Given the description of an element on the screen output the (x, y) to click on. 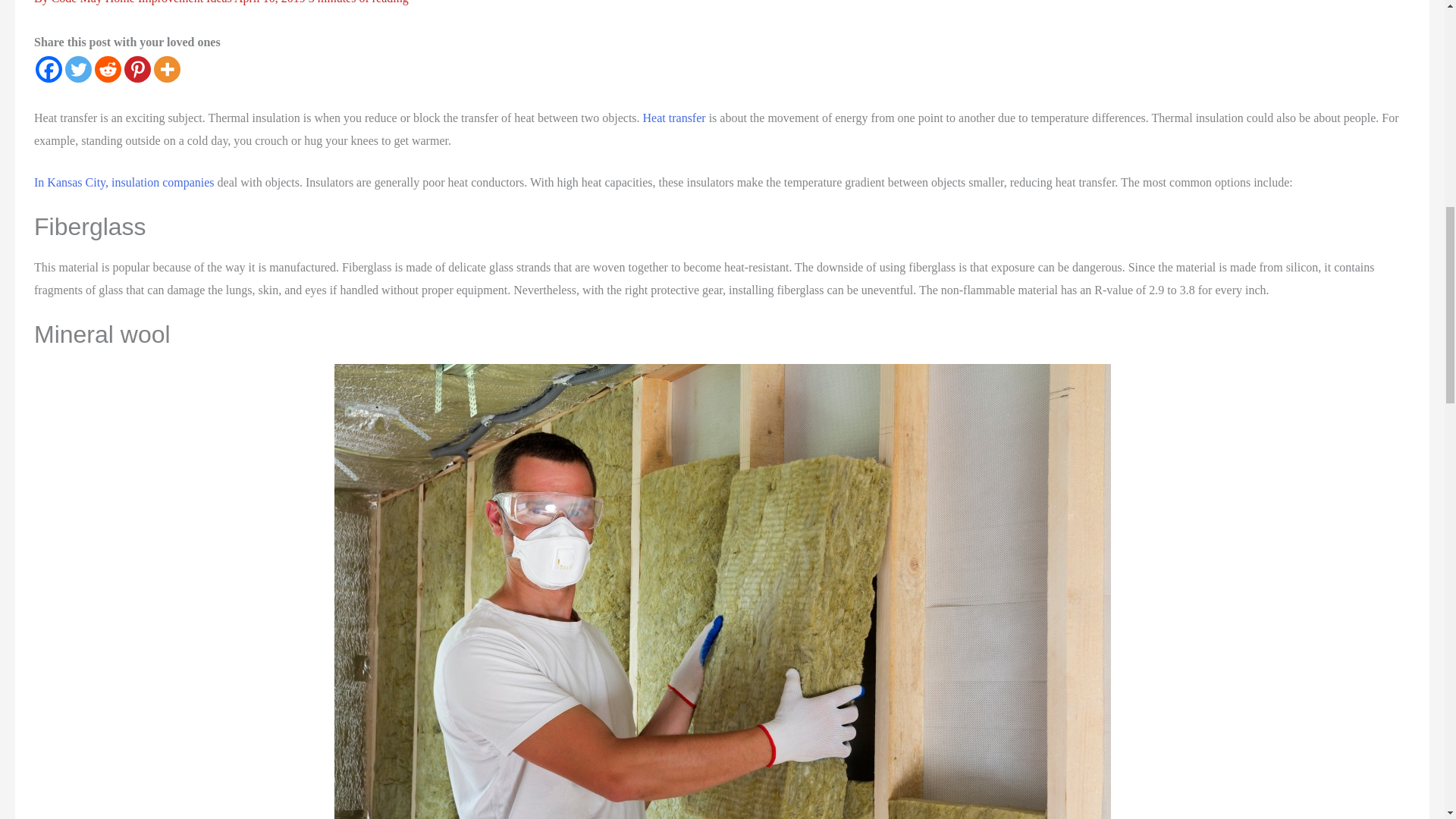
View all posts by Code May (77, 2)
Reddit (107, 69)
Twitter (78, 69)
Facebook (48, 69)
Pinterest (137, 69)
In Kansas City, insulation companies (123, 182)
Cody May (674, 117)
Code May (77, 2)
Home Improvement Ideas (167, 2)
Heat transfer (674, 117)
